Given the description of an element on the screen output the (x, y) to click on. 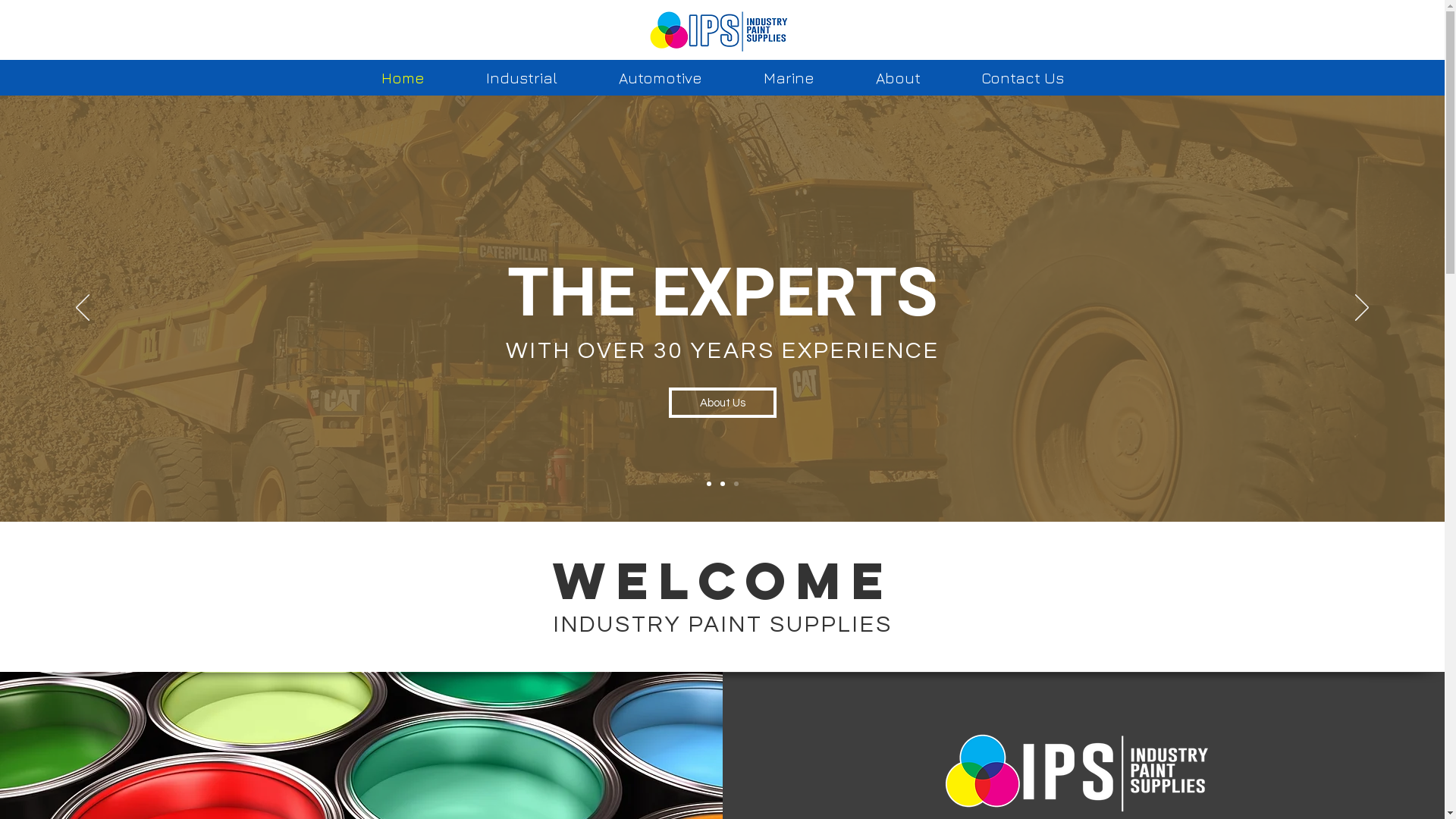
About Element type: text (897, 77)
Home Element type: text (402, 77)
Contact Us Element type: text (1022, 77)
Automotive Element type: text (660, 77)
